Given the description of an element on the screen output the (x, y) to click on. 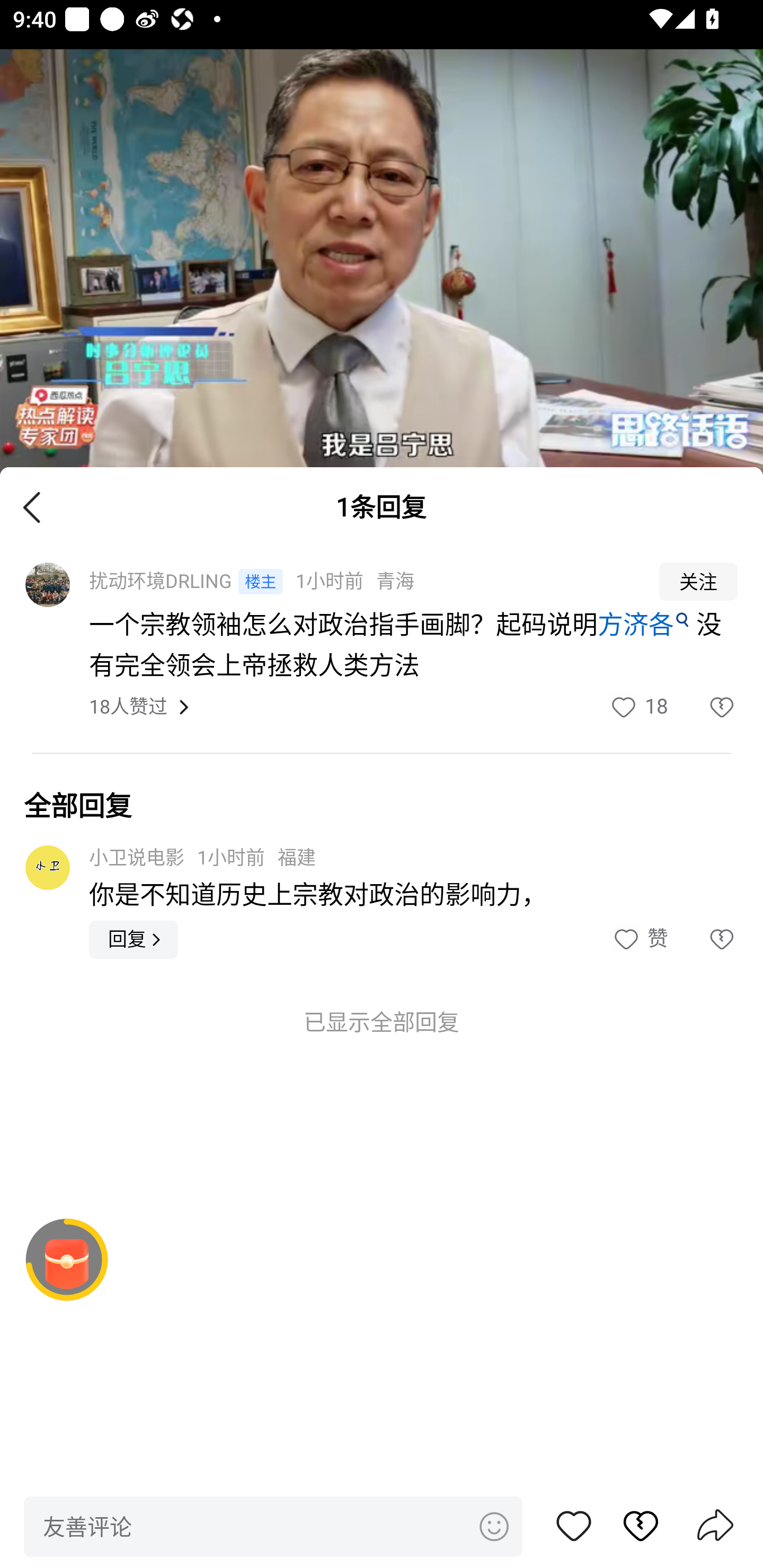
关闭 (31, 506)
关注 (698, 581)
扰动环境DRLING 1小时前 青海 (362, 581)
18人赞过 (128, 707)
赞18 赞 (637, 706)
踩 (702, 706)
小卫说电影 1小时前 福建 (202, 857)
回复 (133, 939)
赞 (638, 938)
踩 (702, 938)
阅读赚金币 (66, 1259)
分享 (715, 1526)
友善评论 表情 (272, 1526)
赞 (574, 1526)
踩 (630, 1526)
表情 (493, 1526)
